Given the description of an element on the screen output the (x, y) to click on. 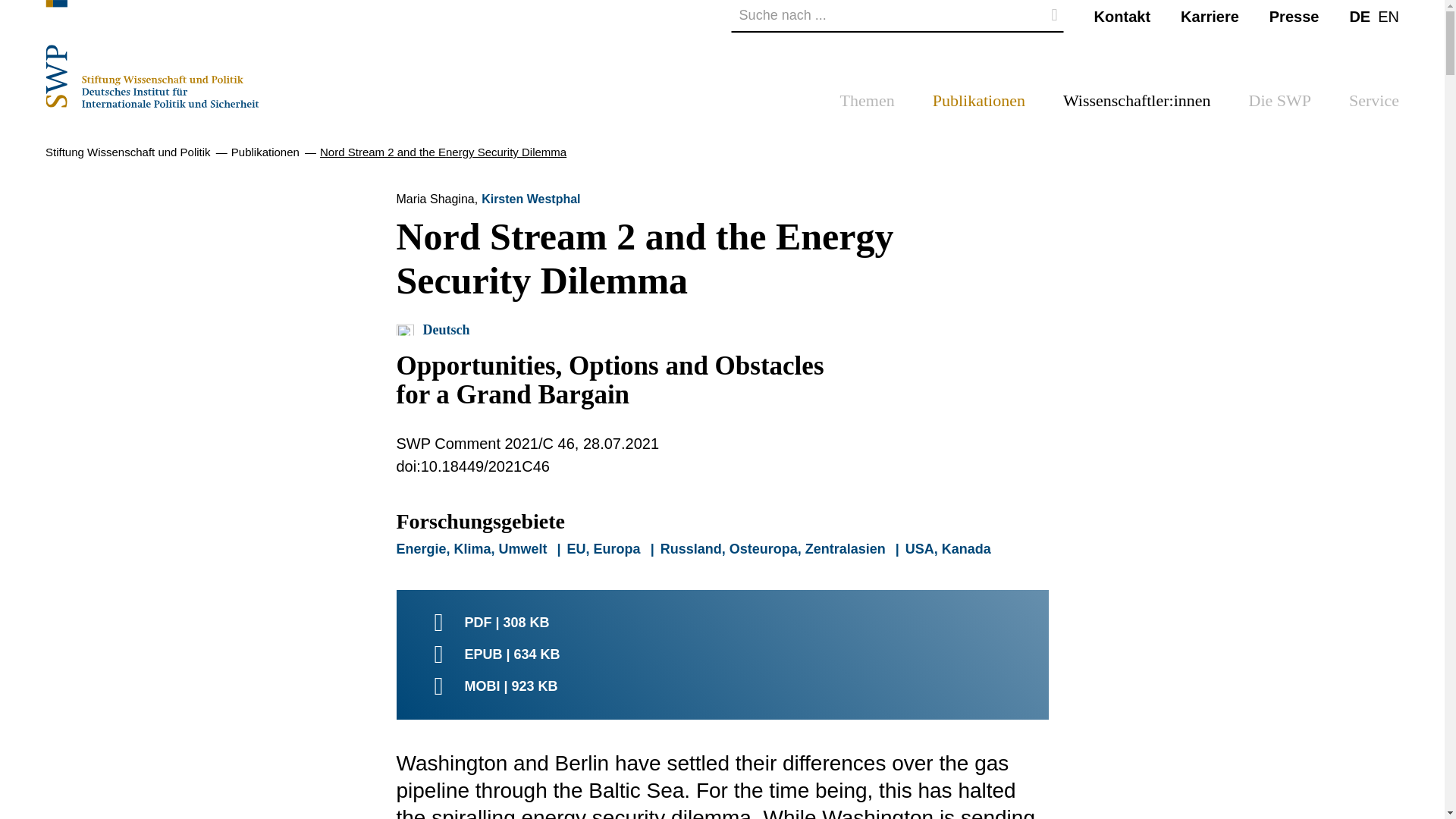
Deutsch (1359, 15)
EN (1388, 15)
Themen (867, 104)
Karriere (1209, 15)
PDF-Datei; kann u.a. im Adobe Acrobat Reader gelesen werden (721, 622)
Kontakt (1122, 15)
englisch (1388, 15)
Presse (1294, 15)
